Given the description of an element on the screen output the (x, y) to click on. 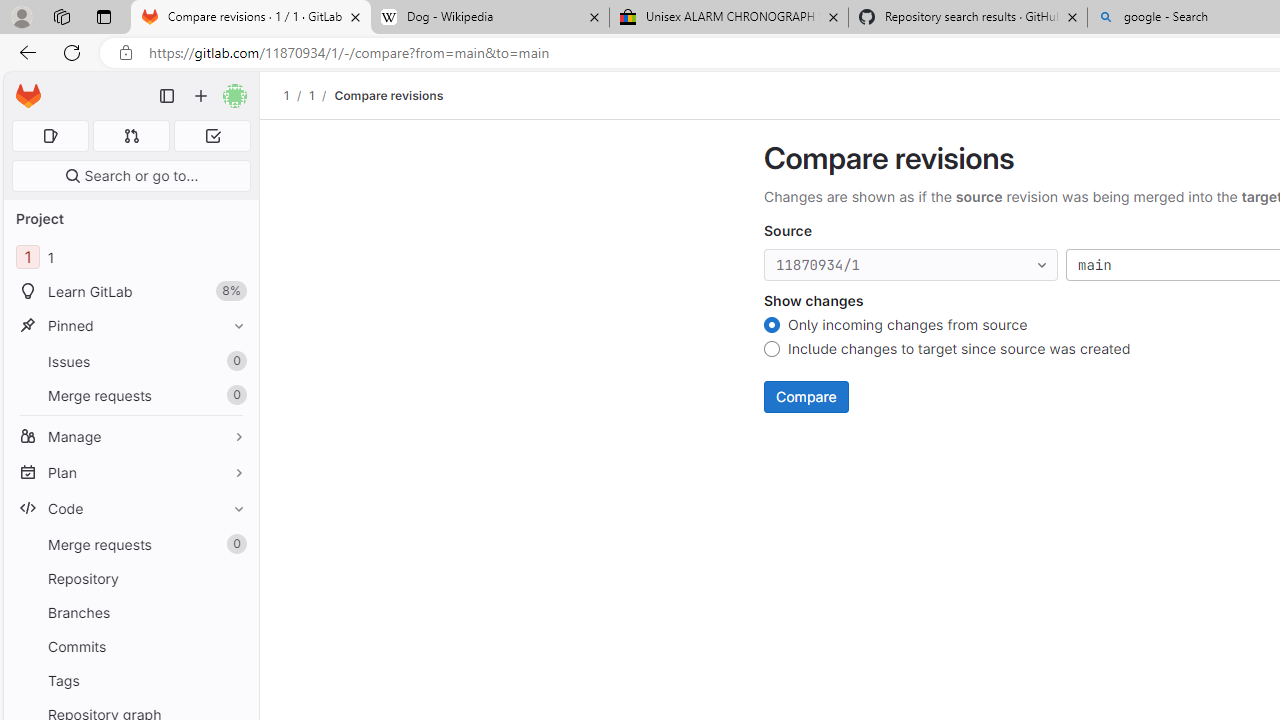
Learn GitLab8% (130, 291)
Unpin Merge requests (234, 544)
To-Do list 0 (212, 136)
Repository (130, 578)
Assigned issues 0 (50, 136)
Compare revisions (389, 95)
11 (130, 257)
Plan (130, 471)
